Given the description of an element on the screen output the (x, y) to click on. 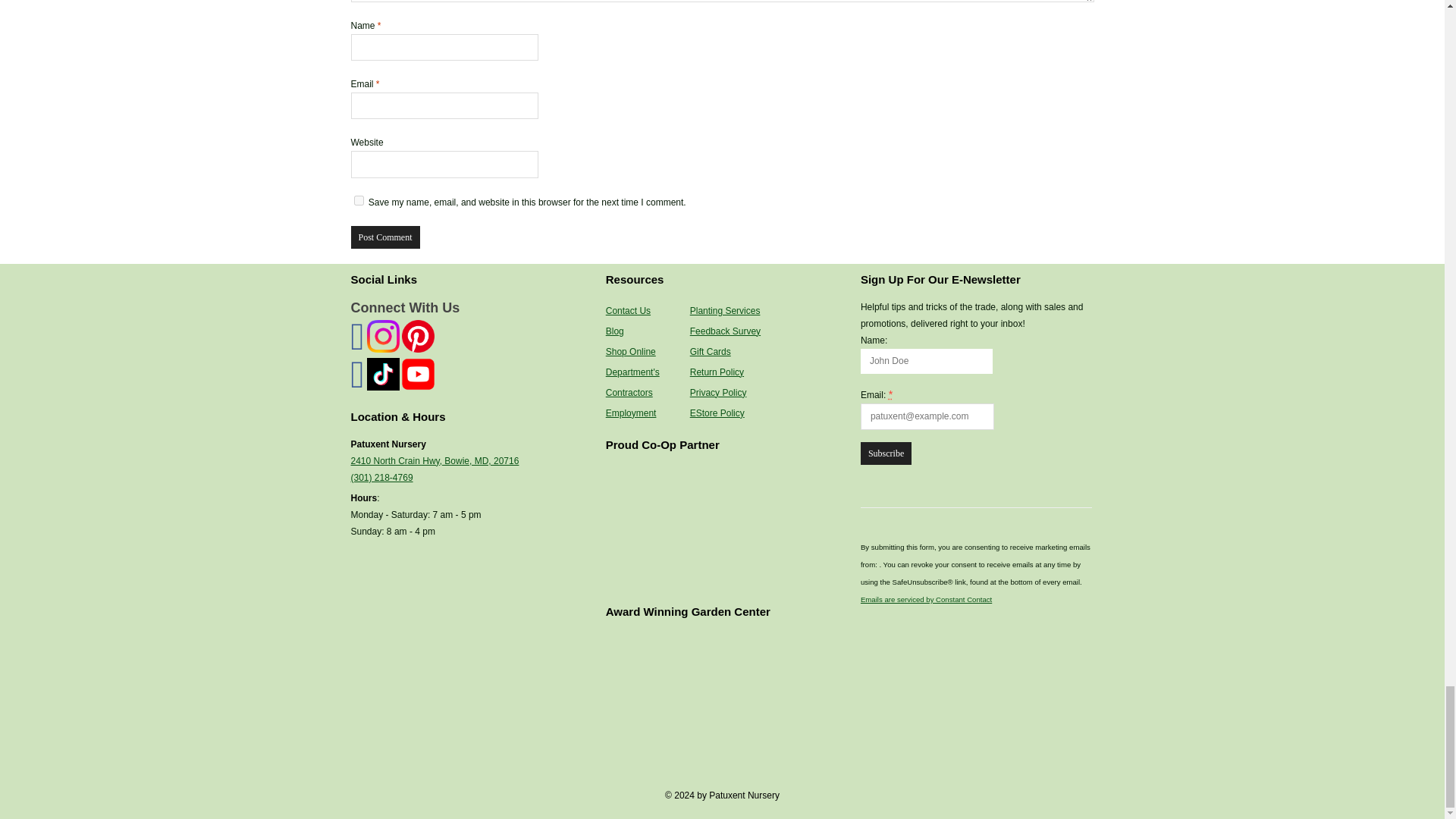
yes (357, 200)
Post Comment (384, 237)
Subscribe (885, 453)
